Given the description of an element on the screen output the (x, y) to click on. 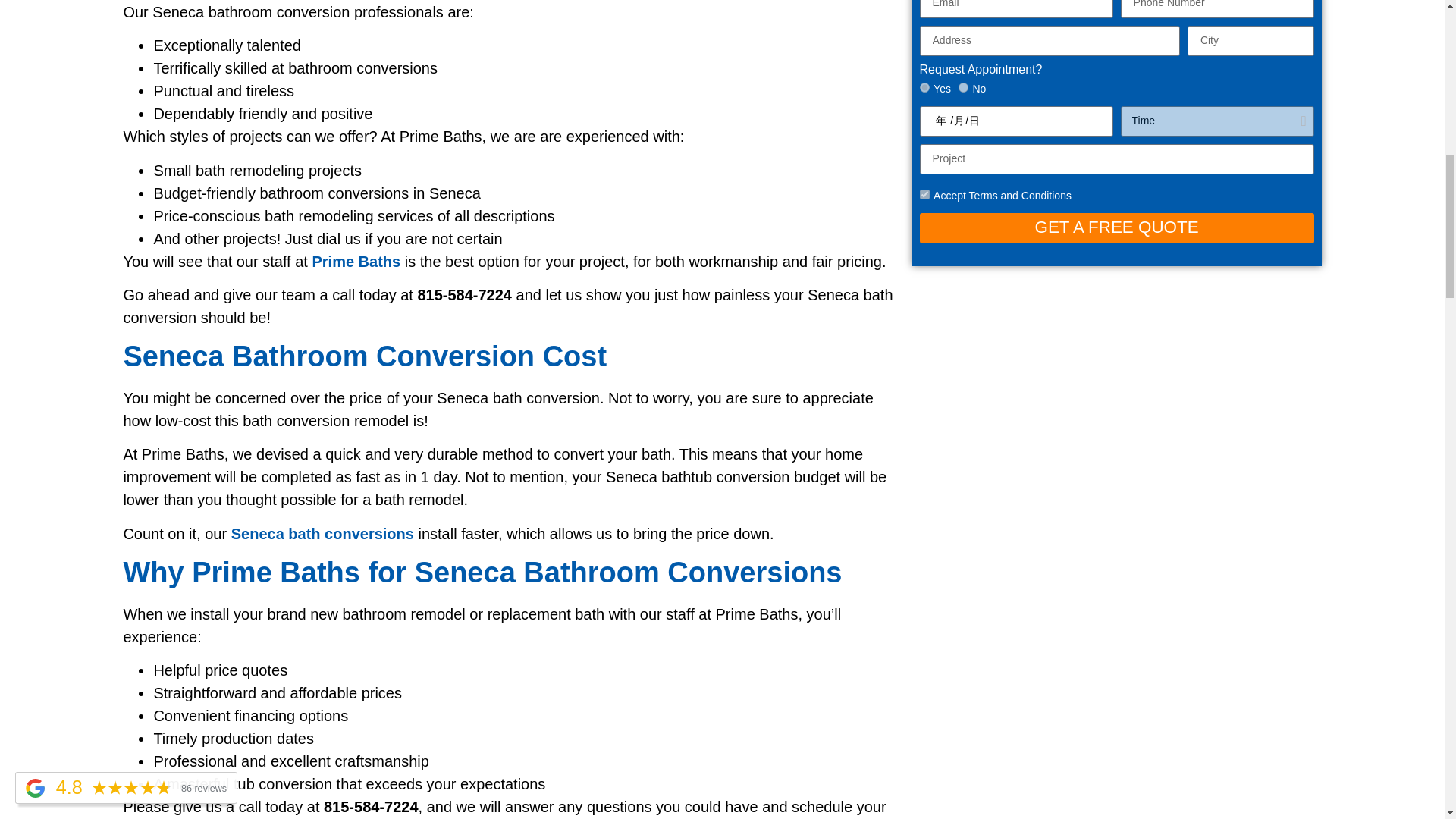
No (963, 87)
Yes (925, 87)
on (925, 194)
